Given the description of an element on the screen output the (x, y) to click on. 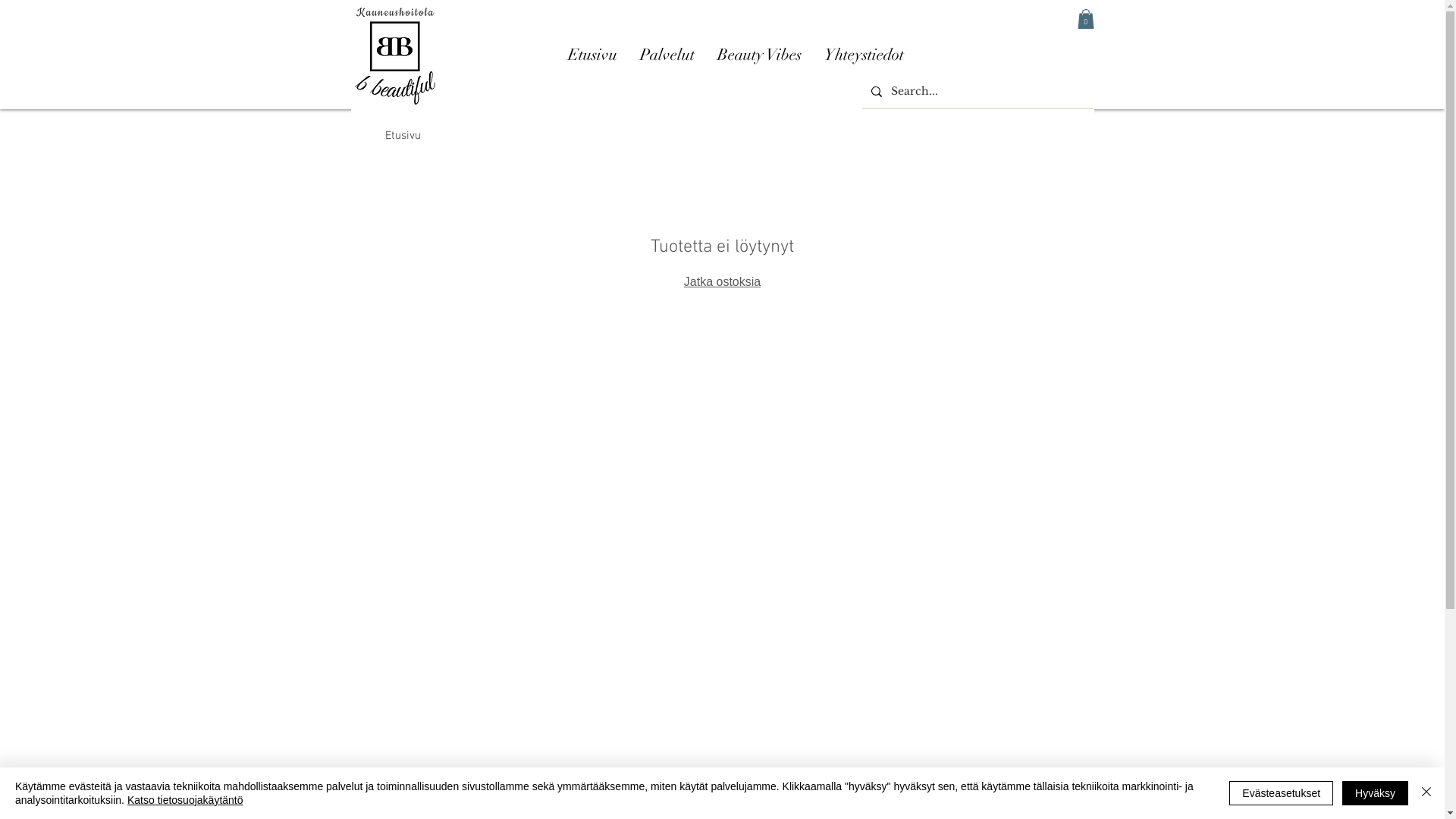
Beauty Vibes Element type: text (758, 54)
Etusivu Element type: text (592, 54)
Yhteystiedot Element type: text (863, 54)
Jatka ostoksia Element type: text (722, 281)
Palvelut Element type: text (666, 54)
Etusivu Element type: text (402, 135)
0 Element type: text (1084, 18)
Kauneushoitola bbeautiful Element type: hover (394, 54)
